Given the description of an element on the screen output the (x, y) to click on. 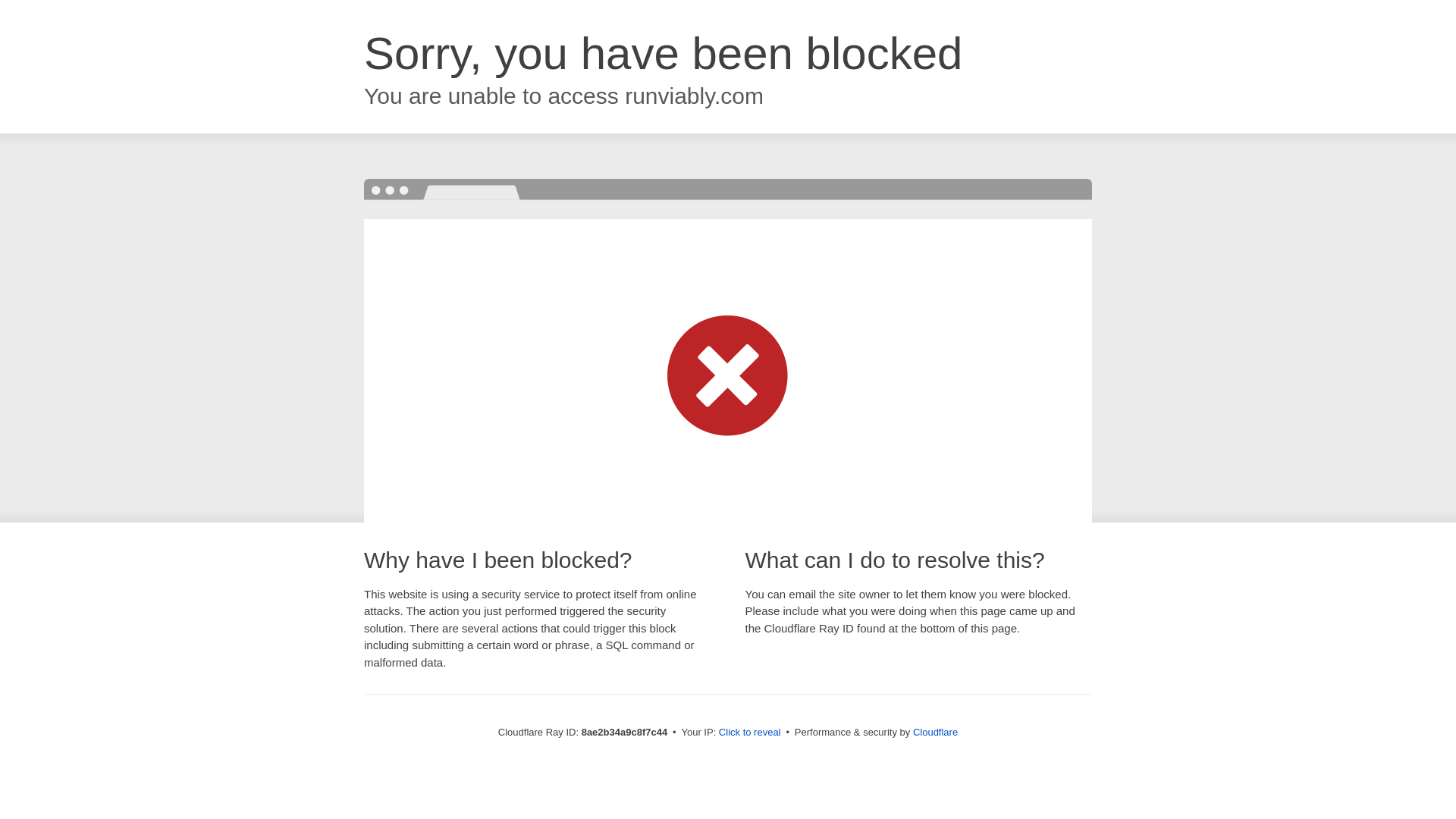
Click to reveal (749, 732)
Cloudflare (935, 731)
